Given the description of an element on the screen output the (x, y) to click on. 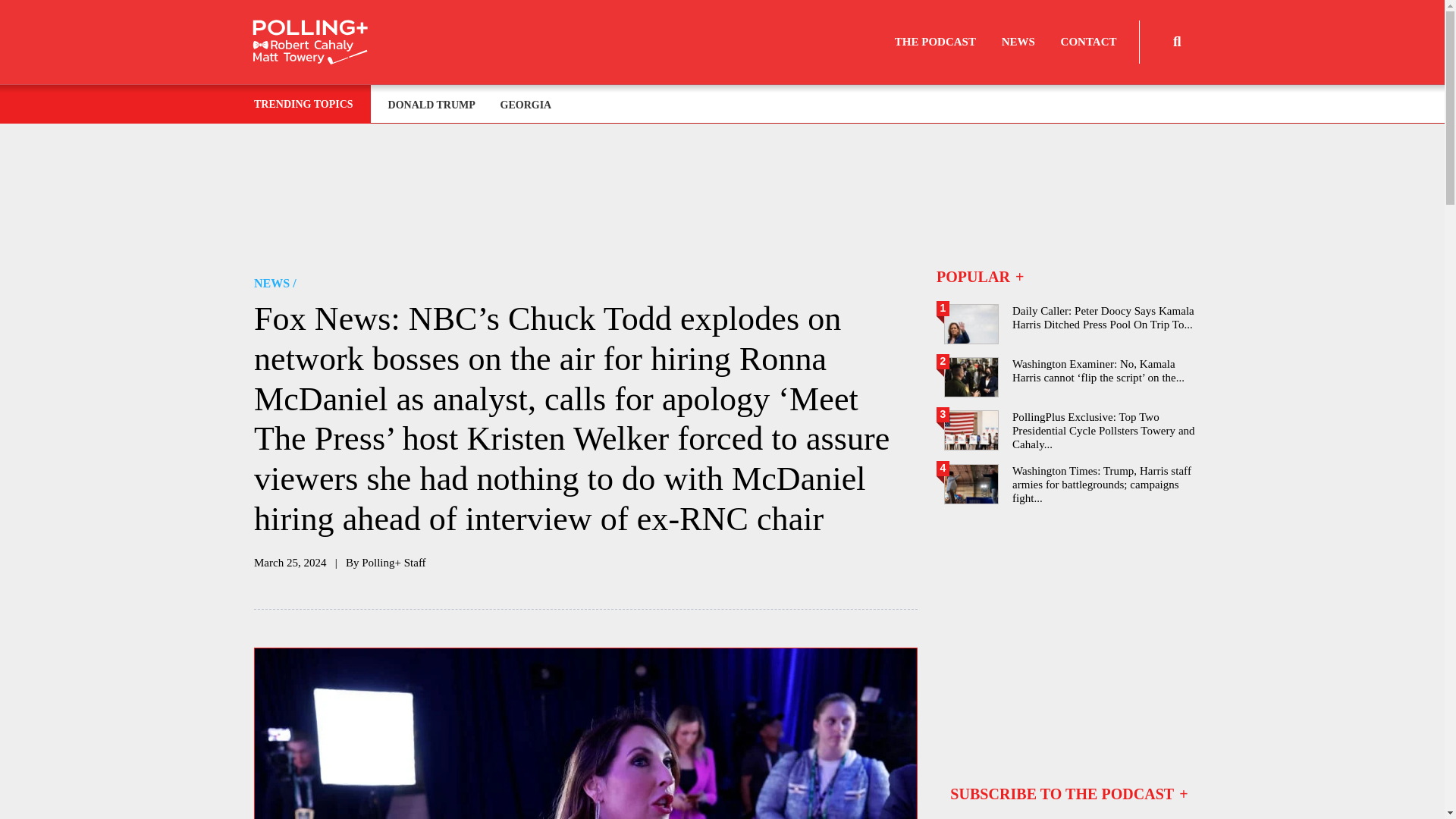
GEORGIA (526, 104)
Advertisement (727, 195)
Advertisement (1068, 628)
DONALD TRUMP (433, 104)
THE PODCAST (935, 41)
CONTACT (1088, 41)
NEWS (1018, 41)
